Given the description of an element on the screen output the (x, y) to click on. 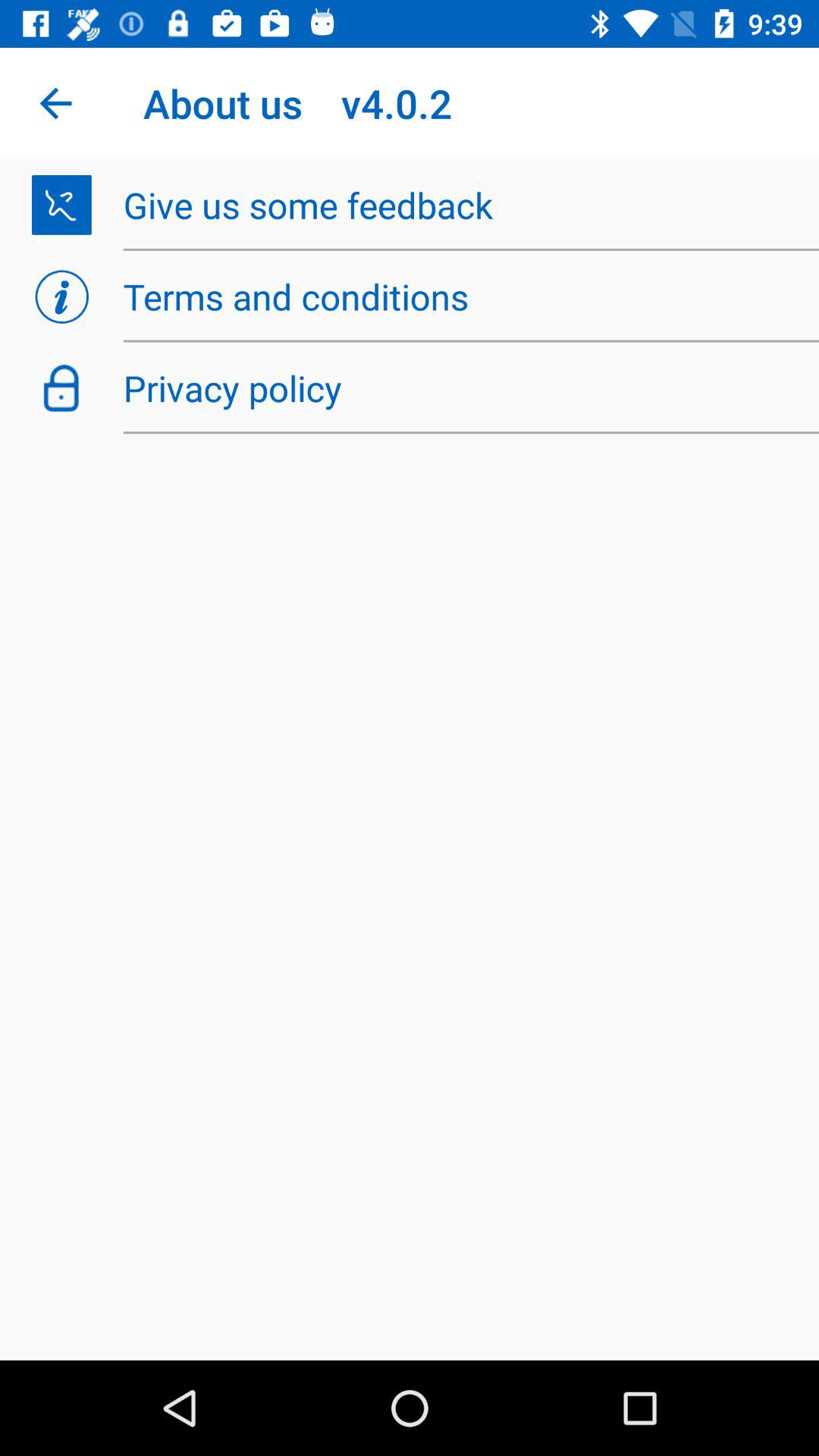
turn on app to the left of the about us v4 (55, 103)
